Given the description of an element on the screen output the (x, y) to click on. 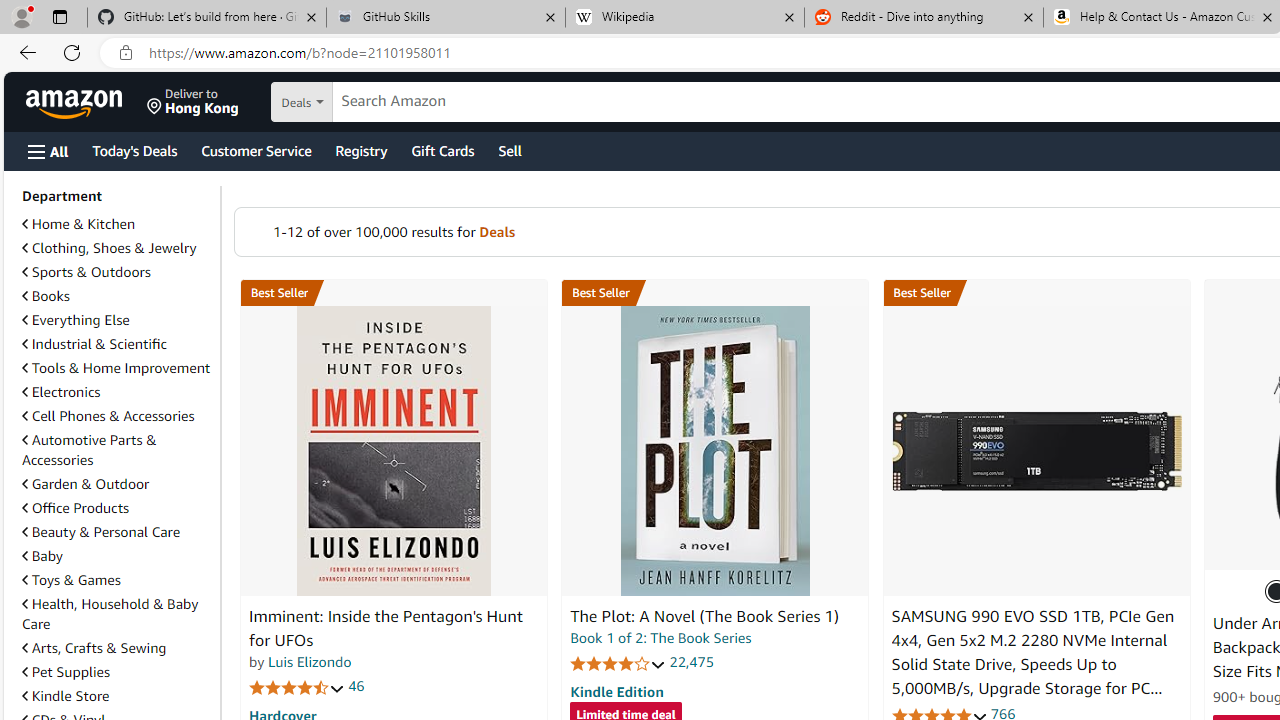
46 (356, 686)
Search in (371, 102)
Clothing, Shoes & Jewelry (109, 248)
Electronics (61, 392)
Gift Cards (442, 150)
Today's Deals (134, 150)
Office Products (117, 507)
Industrial & Scientific (117, 344)
Kindle Store (117, 696)
Toys & Games (71, 579)
Health, Household & Baby Care (109, 613)
Beauty & Personal Care (117, 532)
The Plot: A Novel (The Book Series 1) (703, 616)
